Given the description of an element on the screen output the (x, y) to click on. 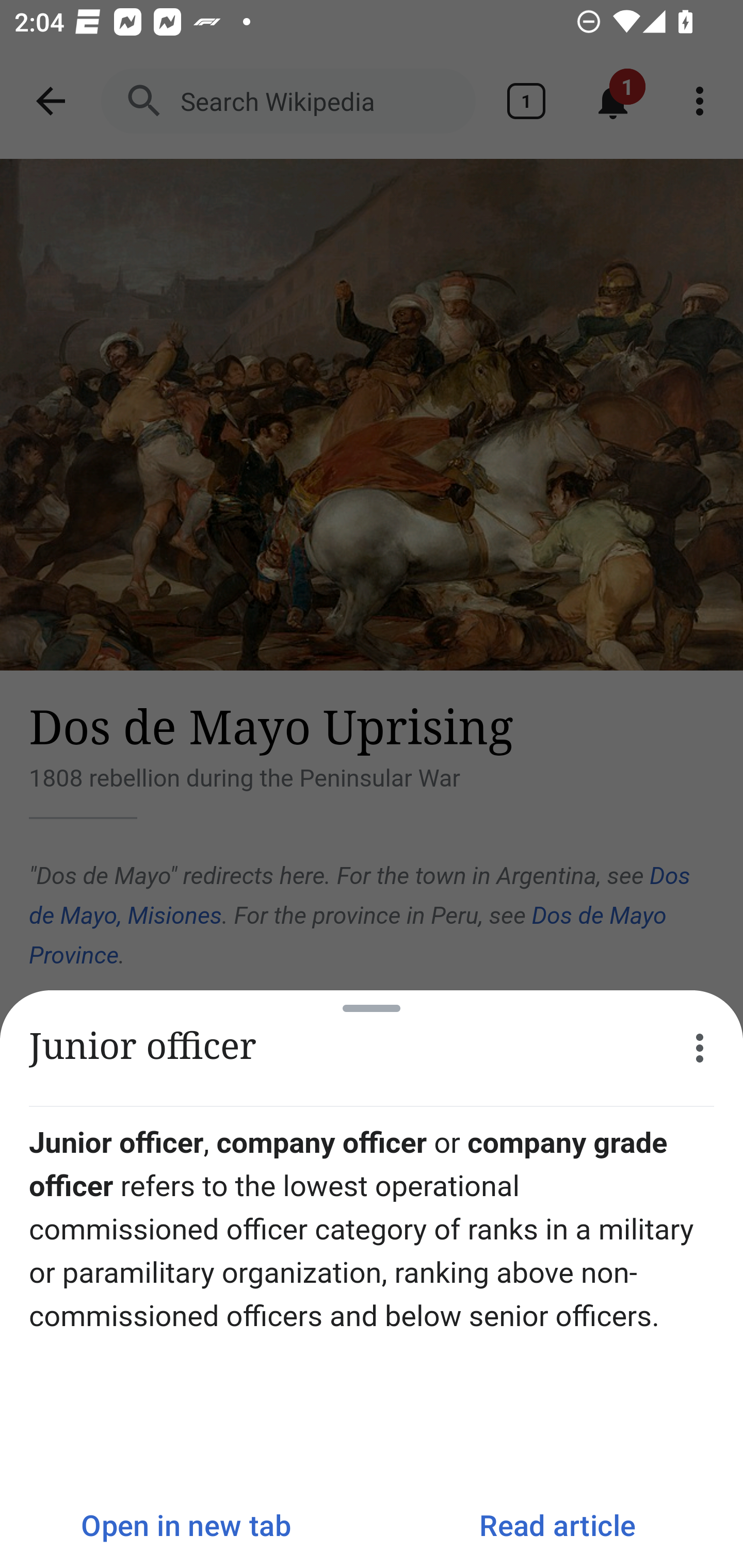
Junior officer More options (371, 1047)
More options (699, 1048)
Open in new tab (185, 1524)
Read article (557, 1524)
